Given the description of an element on the screen output the (x, y) to click on. 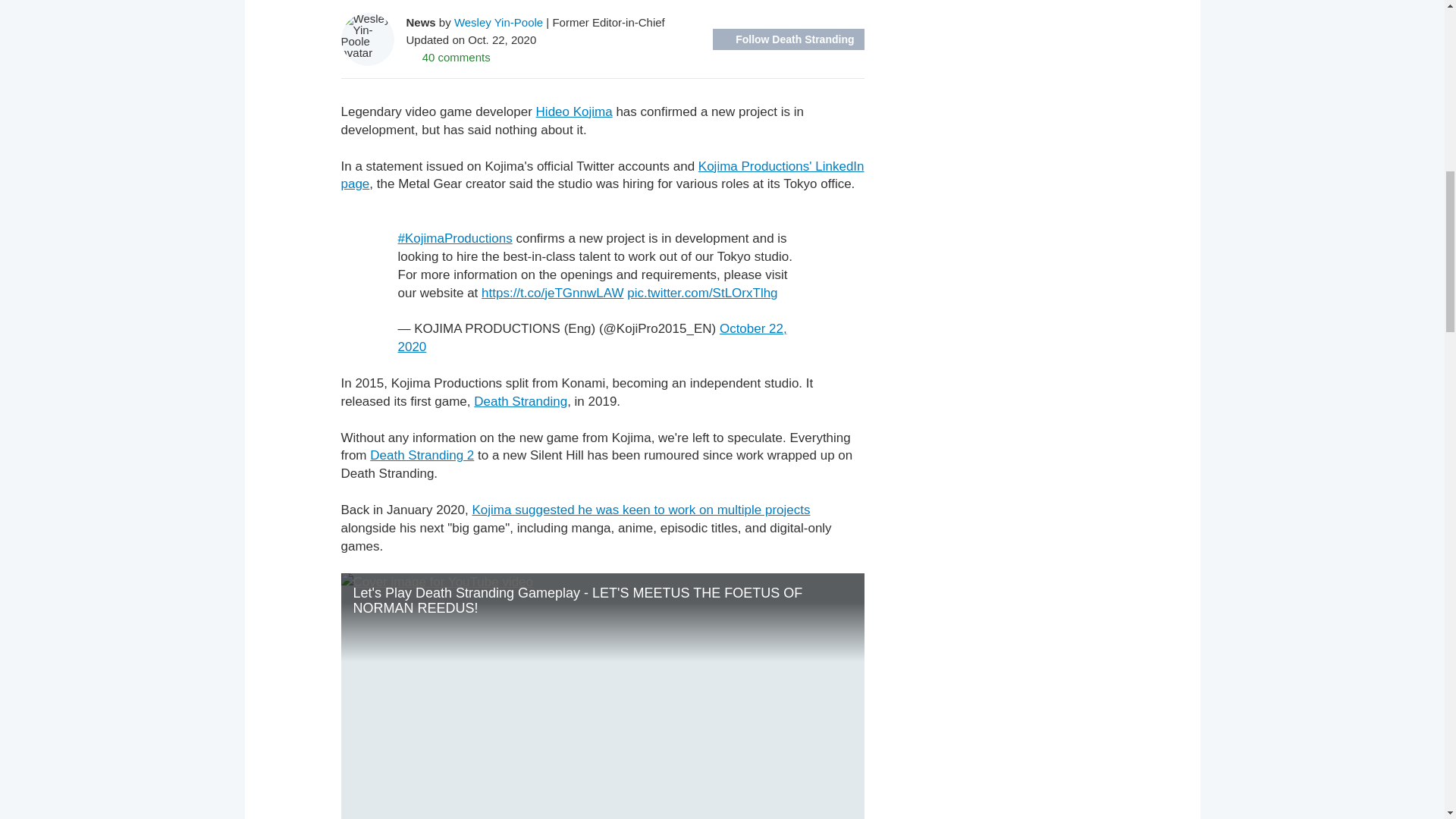
October 22, 2020 (591, 337)
Death Stranding (520, 400)
40 comments (448, 56)
Follow Death Stranding (788, 38)
Kojima Productions' LinkedIn page (602, 174)
Hideo Kojima (573, 111)
Death Stranding 2 (421, 454)
Wesley Yin-Poole (498, 21)
Kojima suggested he was keen to work on multiple projects (640, 509)
